Given the description of an element on the screen output the (x, y) to click on. 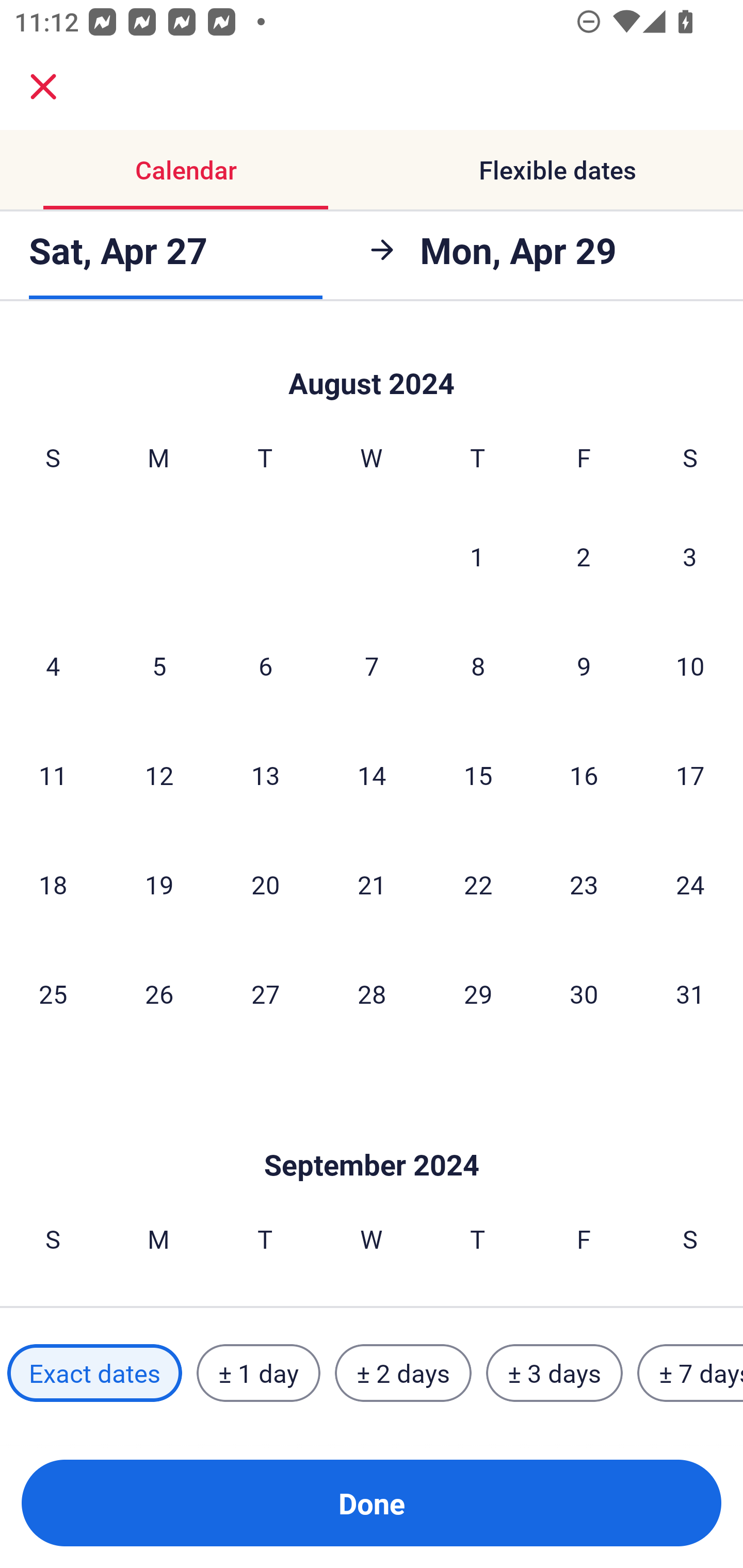
close. (43, 86)
Flexible dates (557, 170)
Skip to Done (371, 363)
1 Thursday, August 1, 2024 (477, 555)
2 Friday, August 2, 2024 (583, 555)
3 Saturday, August 3, 2024 (689, 555)
4 Sunday, August 4, 2024 (53, 665)
5 Monday, August 5, 2024 (159, 665)
6 Tuesday, August 6, 2024 (265, 665)
7 Wednesday, August 7, 2024 (371, 665)
8 Thursday, August 8, 2024 (477, 665)
9 Friday, August 9, 2024 (584, 665)
10 Saturday, August 10, 2024 (690, 665)
11 Sunday, August 11, 2024 (53, 774)
12 Monday, August 12, 2024 (159, 774)
13 Tuesday, August 13, 2024 (265, 774)
14 Wednesday, August 14, 2024 (371, 774)
15 Thursday, August 15, 2024 (477, 774)
16 Friday, August 16, 2024 (584, 774)
17 Saturday, August 17, 2024 (690, 774)
18 Sunday, August 18, 2024 (53, 884)
19 Monday, August 19, 2024 (159, 884)
20 Tuesday, August 20, 2024 (265, 884)
21 Wednesday, August 21, 2024 (371, 884)
22 Thursday, August 22, 2024 (477, 884)
23 Friday, August 23, 2024 (584, 884)
24 Saturday, August 24, 2024 (690, 884)
25 Sunday, August 25, 2024 (53, 992)
26 Monday, August 26, 2024 (159, 992)
27 Tuesday, August 27, 2024 (265, 992)
28 Wednesday, August 28, 2024 (371, 992)
29 Thursday, August 29, 2024 (477, 992)
30 Friday, August 30, 2024 (584, 992)
31 Saturday, August 31, 2024 (690, 992)
Skip to Done (371, 1134)
Exact dates (94, 1372)
± 1 day (258, 1372)
± 2 days (403, 1372)
± 3 days (553, 1372)
± 7 days (690, 1372)
Done (371, 1502)
